Given the description of an element on the screen output the (x, y) to click on. 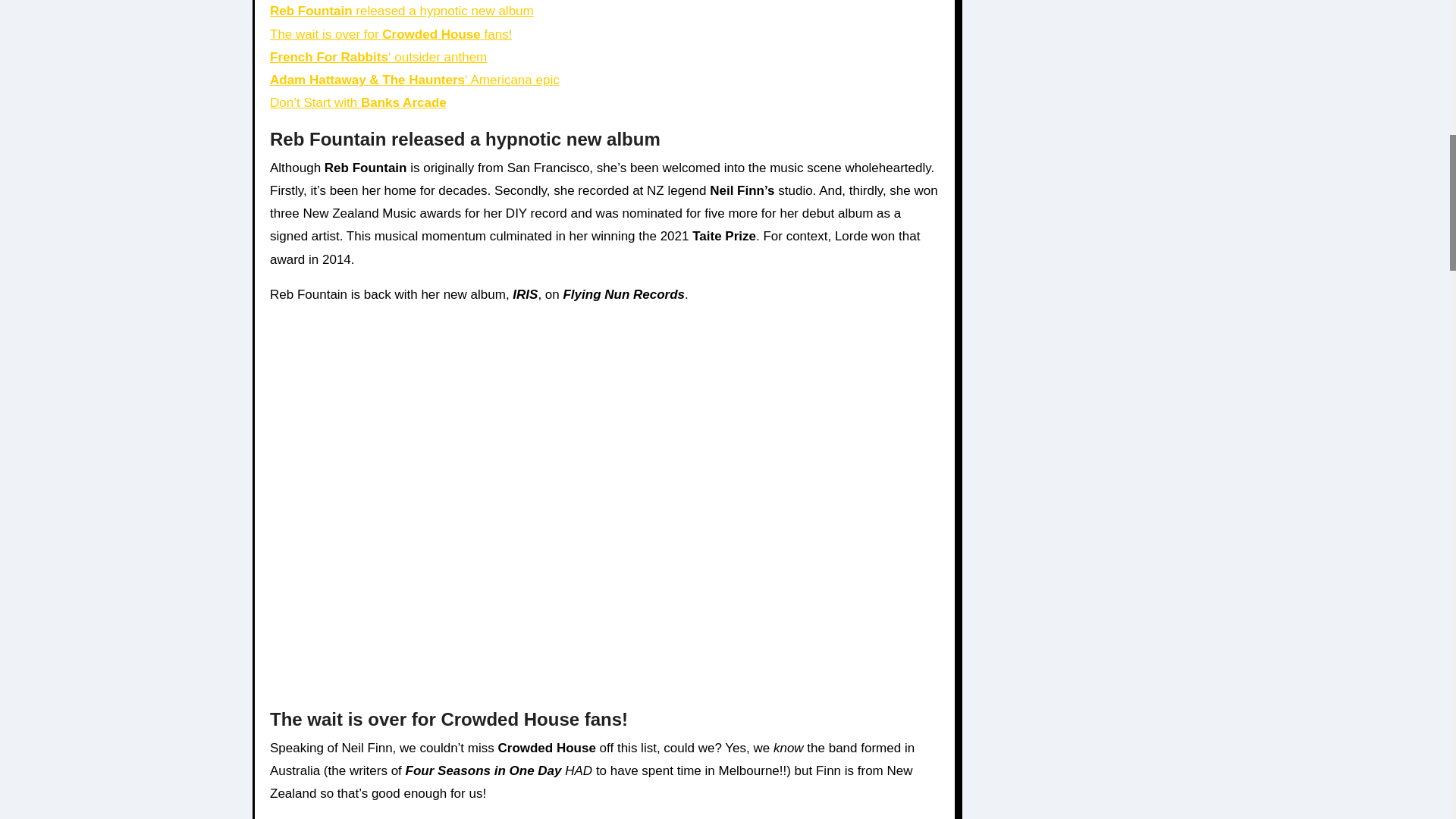
Banks Arcade (403, 102)
The wait is over for Crowded House fans! (390, 34)
Reb Fountain released a hypnotic new album (401, 11)
